Given the description of an element on the screen output the (x, y) to click on. 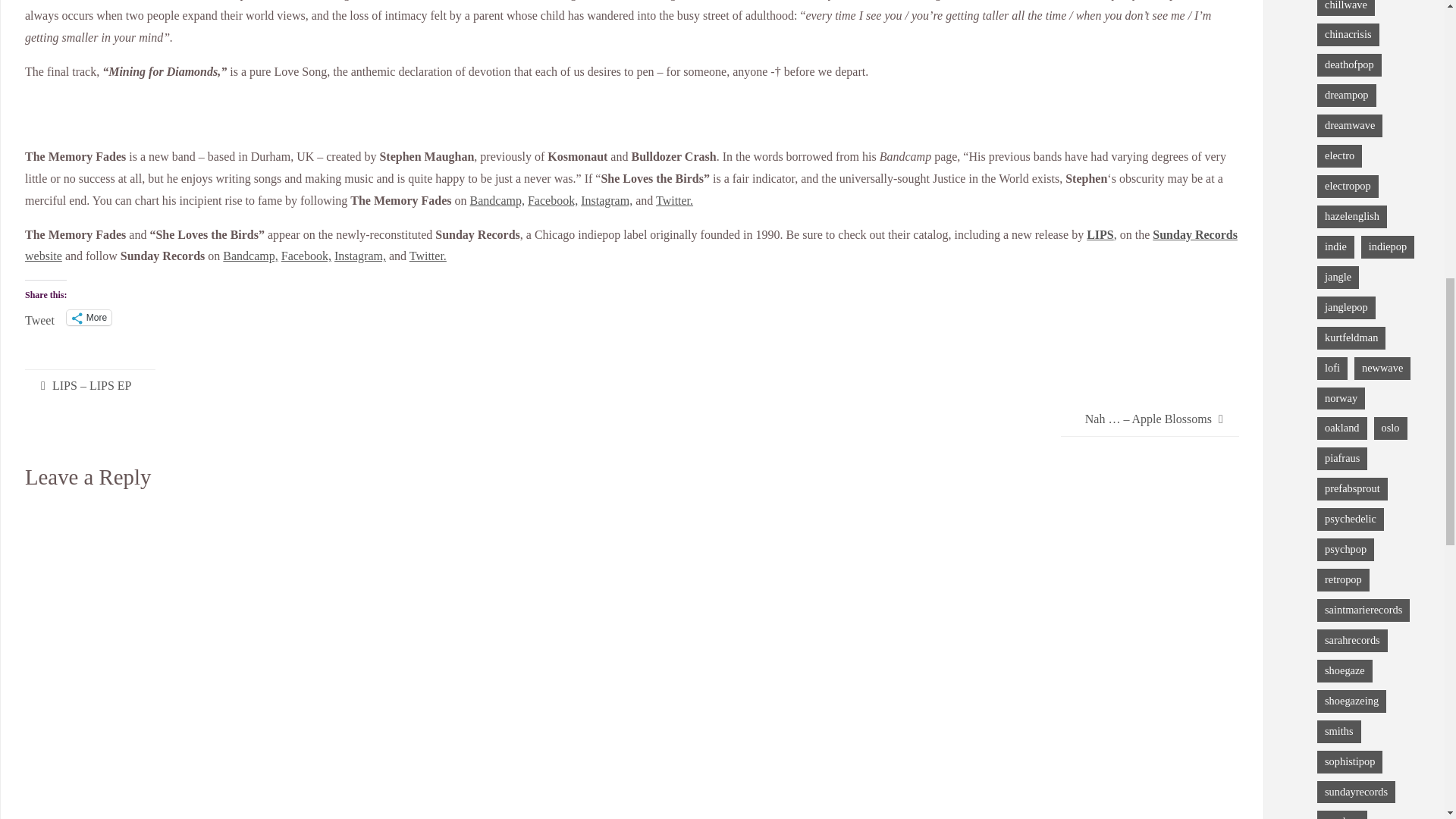
Facebook, (306, 255)
Bandcamp, (497, 200)
Instagram, (605, 200)
Instagram, (359, 255)
LIPS, (1101, 234)
Sunday Records website (630, 245)
Facebook, (552, 200)
Twitter. (427, 255)
Tweet (39, 316)
